Given the description of an element on the screen output the (x, y) to click on. 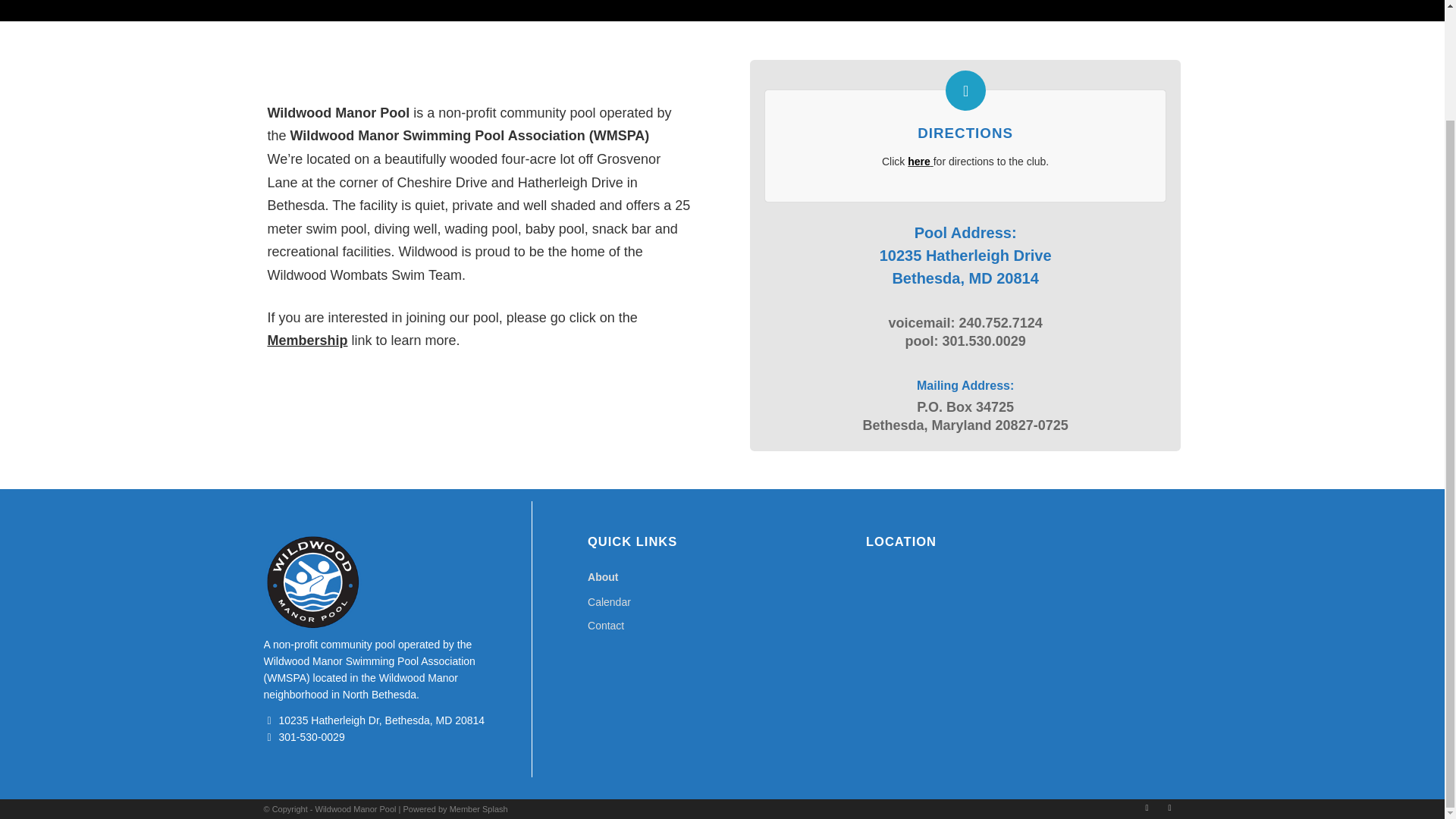
here (918, 161)
ABOUT (297, 0)
Permanent Link: About (297, 0)
Contact (722, 626)
About (722, 577)
Powered by Member Splash (454, 809)
Membership (306, 340)
Calendar (722, 602)
